Given the description of an element on the screen output the (x, y) to click on. 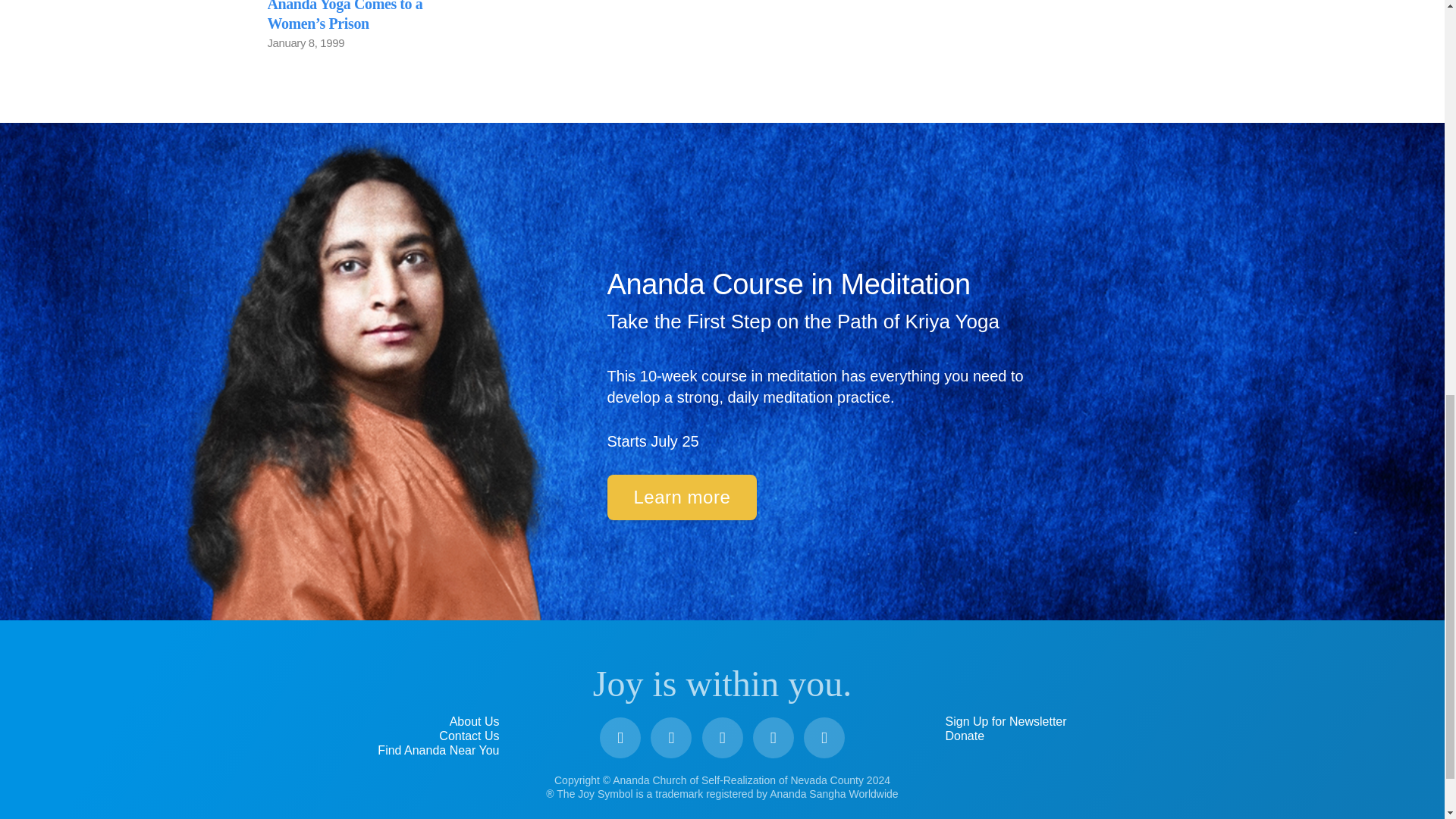
Instagram (721, 737)
Pinterest (772, 737)
RSS (823, 737)
YouTube (670, 737)
Facebook (619, 737)
